Given the description of an element on the screen output the (x, y) to click on. 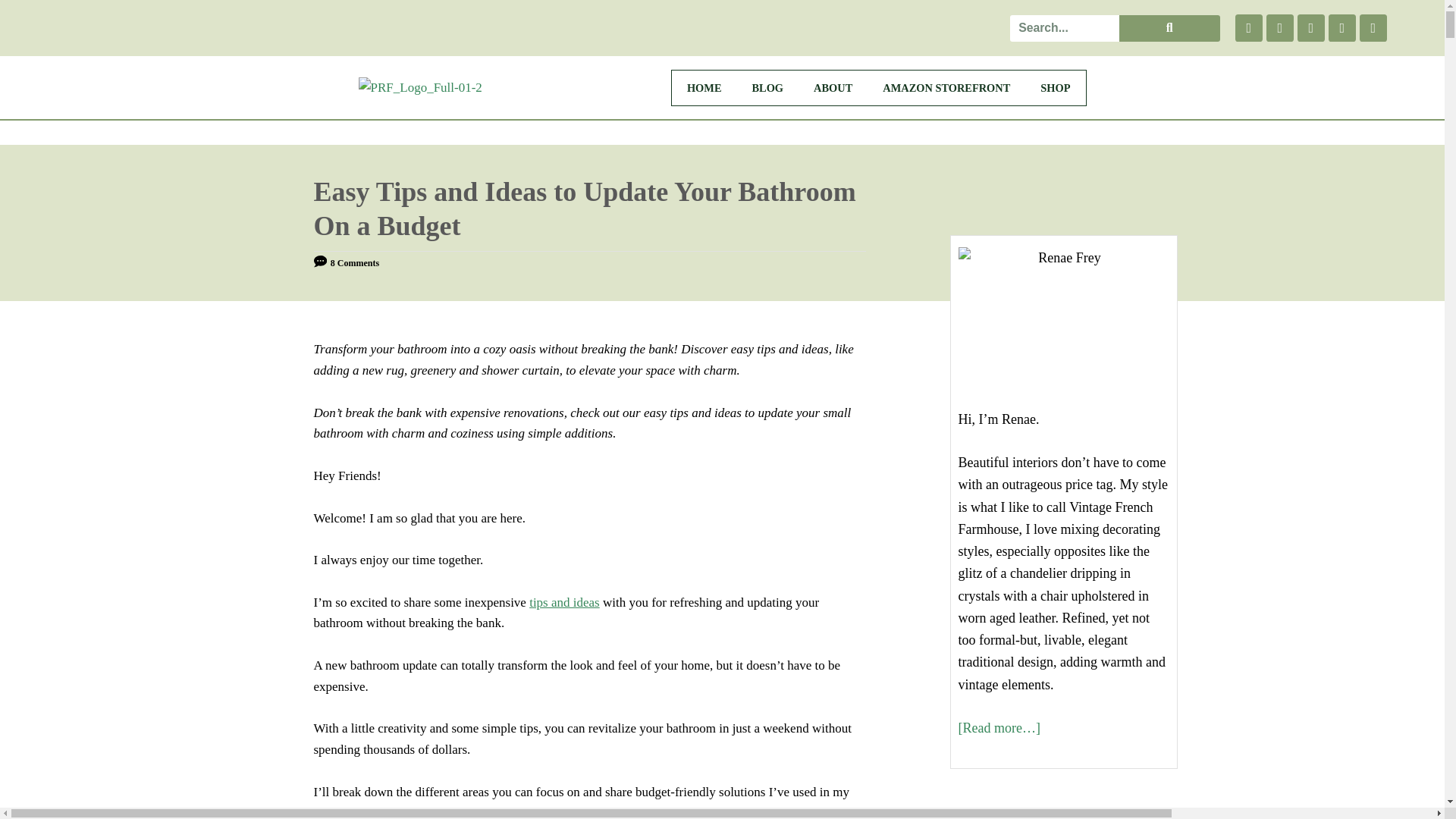
AMAZON STOREFRONT (946, 87)
ABOUT (832, 87)
bathroom makeover (390, 812)
tips and ideas (564, 602)
SHOP (1054, 87)
BLOG (766, 87)
HOME (703, 87)
